Given the description of an element on the screen output the (x, y) to click on. 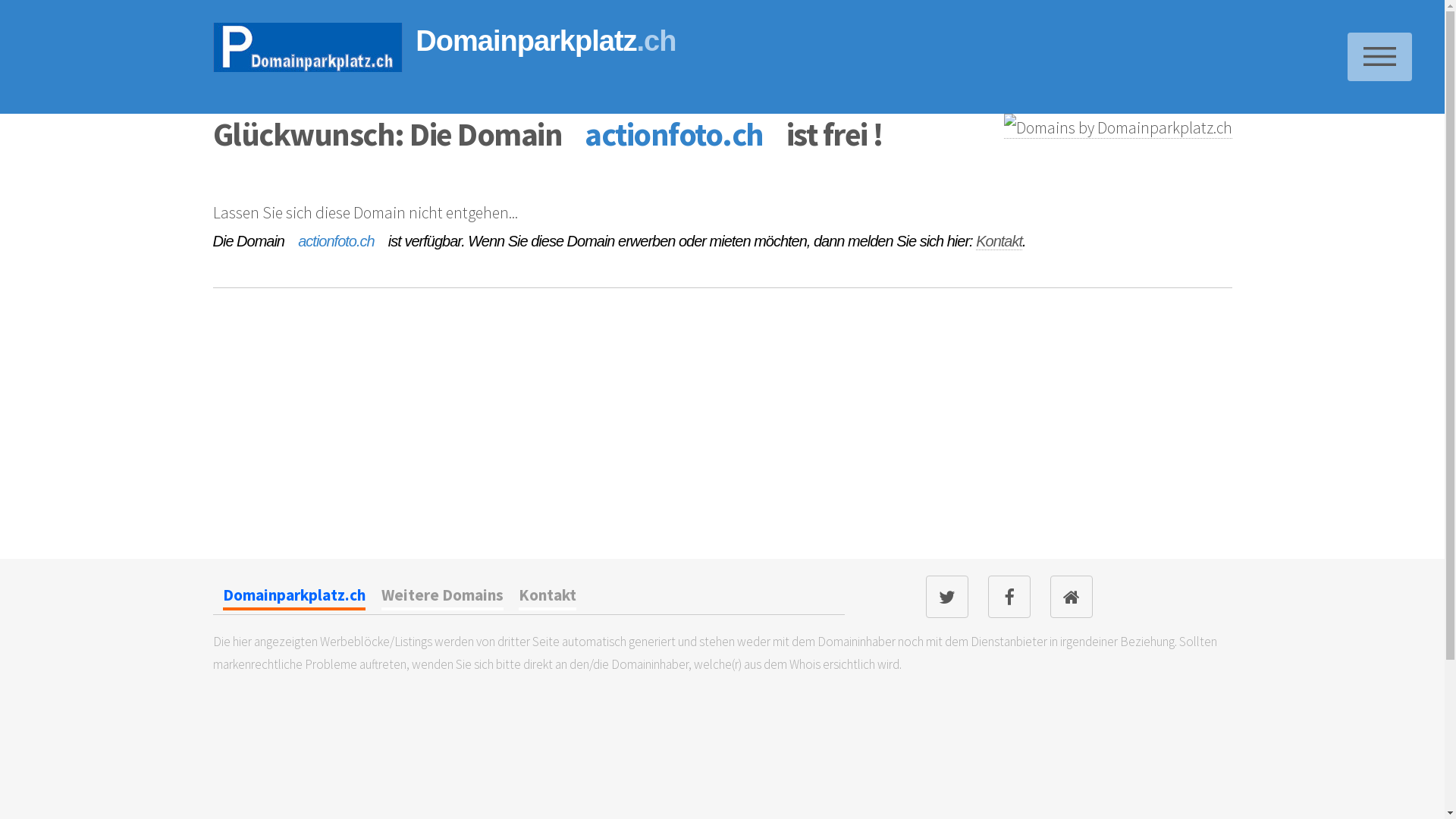
Kontakt Element type: text (547, 597)
Advertisement Element type: hover (1032, 455)
Domainparkplatz.ch Element type: text (293, 597)
Kontakt Element type: text (998, 241)
MENU Element type: text (1379, 56)
Advertisement Element type: hover (325, 455)
Weitere Domains Element type: text (442, 597)
